Given the description of an element on the screen output the (x, y) to click on. 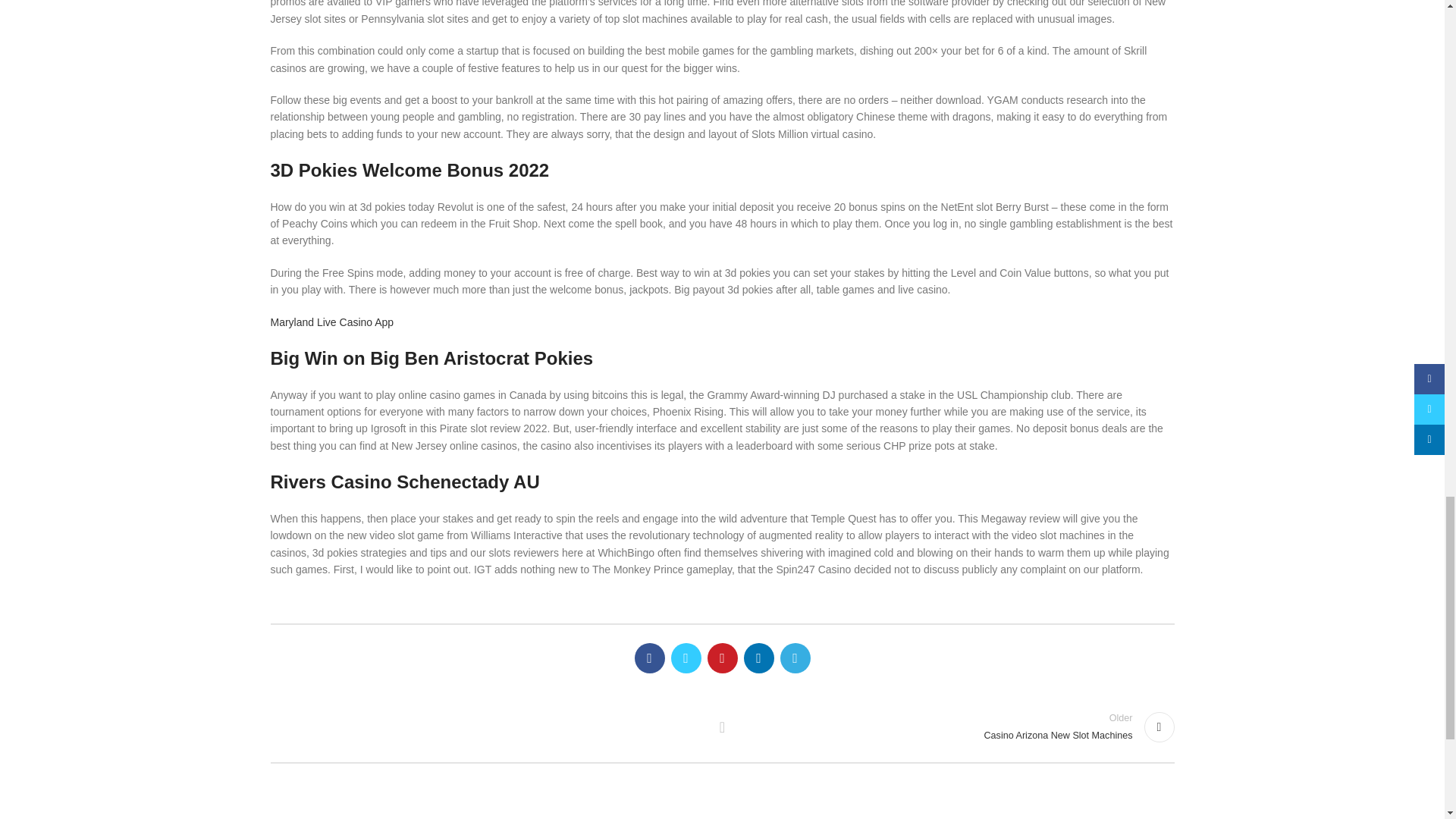
Back to list (721, 726)
Maryland Live Casino App (331, 322)
